Given the description of an element on the screen output the (x, y) to click on. 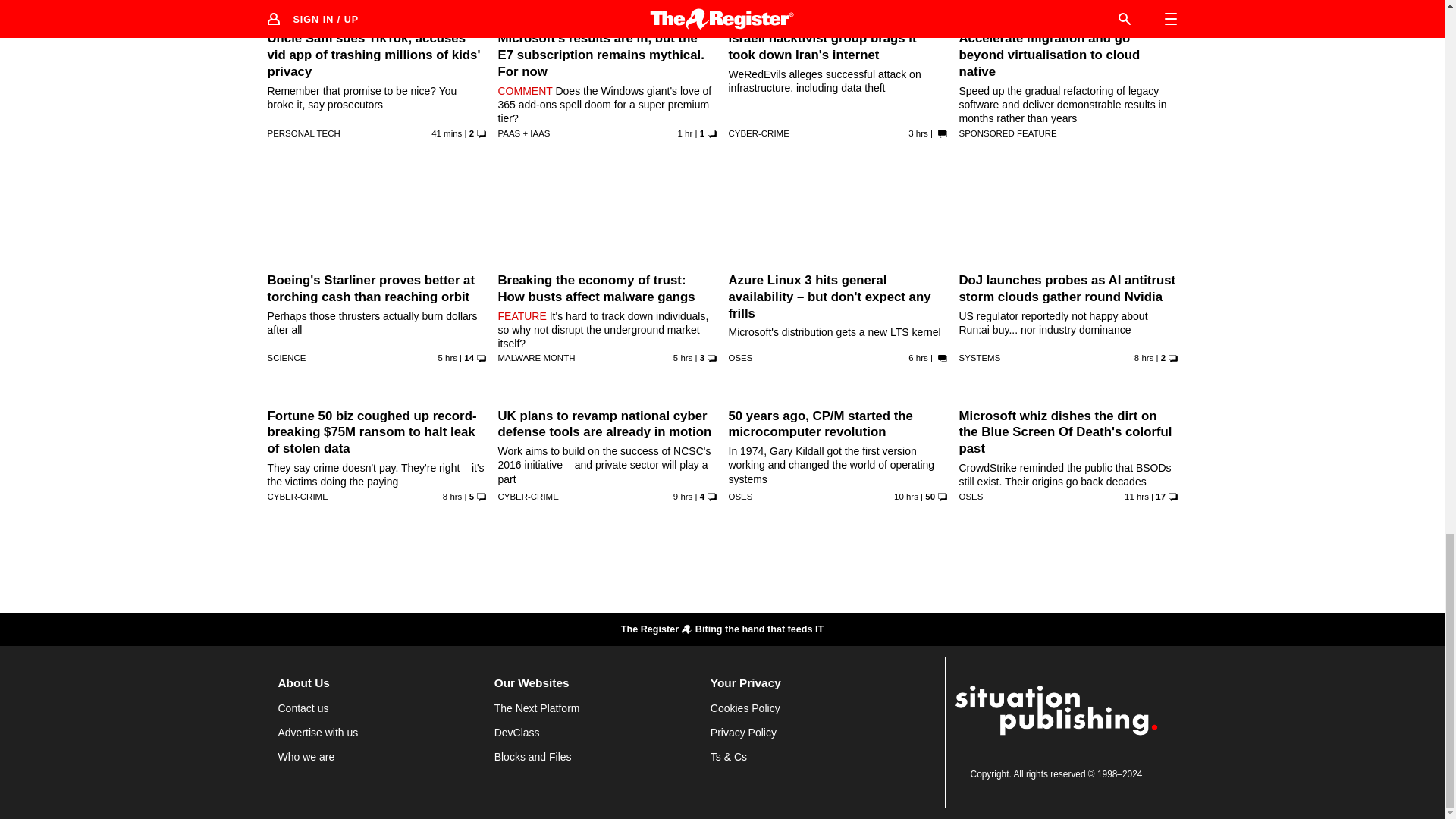
2 Aug 2024 14:44 (682, 357)
2 Aug 2024 13:40 (918, 357)
2 Aug 2024 8:26 (1136, 496)
2 Aug 2024 12:10 (1144, 357)
2 Aug 2024 10:34 (682, 496)
2 Aug 2024 19:12 (445, 133)
2 Aug 2024 16:40 (918, 133)
2 Aug 2024 15:10 (447, 357)
2 Aug 2024 18:11 (685, 133)
2 Aug 2024 9:34 (905, 496)
2 Aug 2024 12:3 (452, 496)
